Given the description of an element on the screen output the (x, y) to click on. 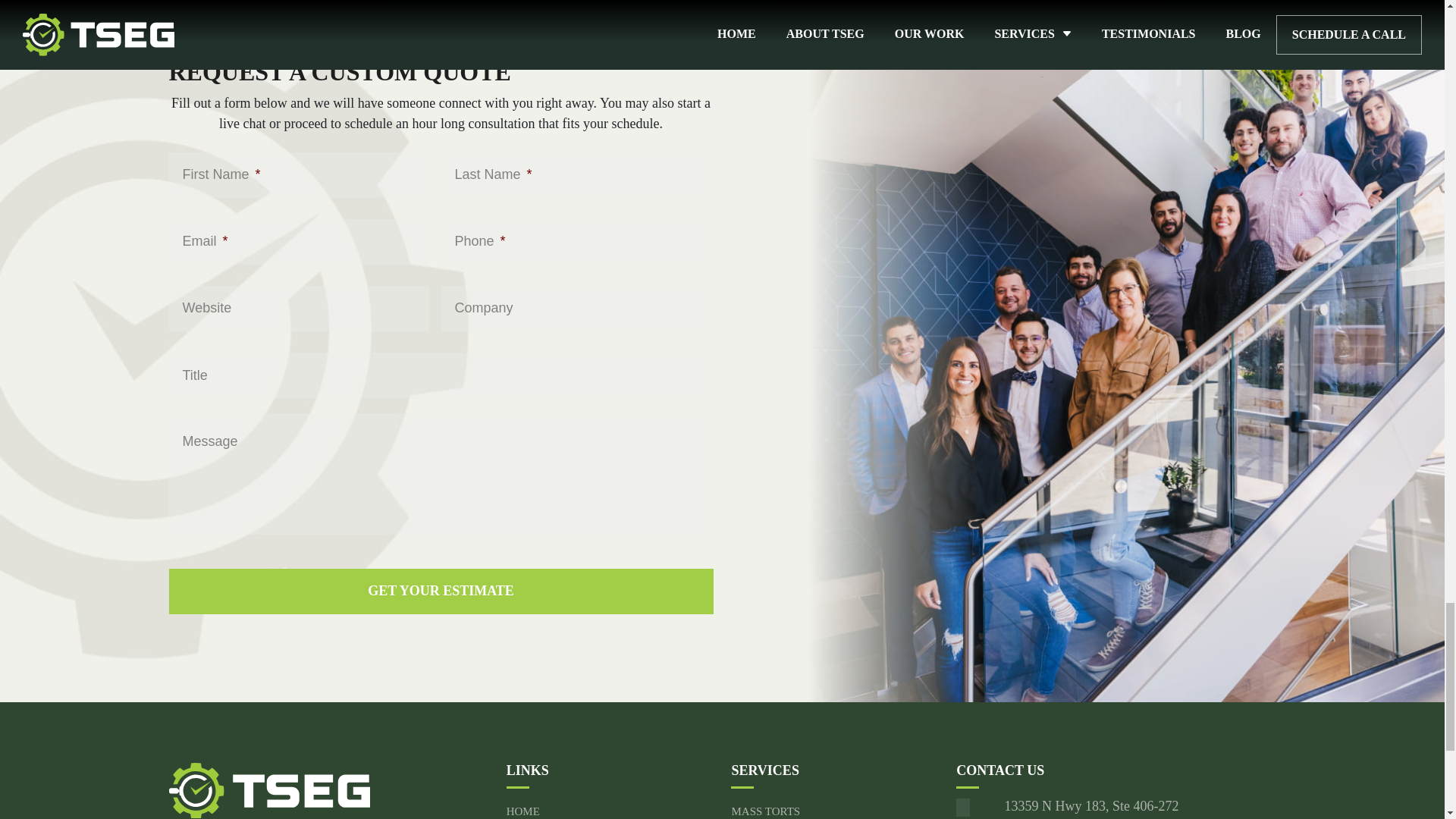
Get your estimate (440, 591)
Get your estimate (440, 591)
